Given the description of an element on the screen output the (x, y) to click on. 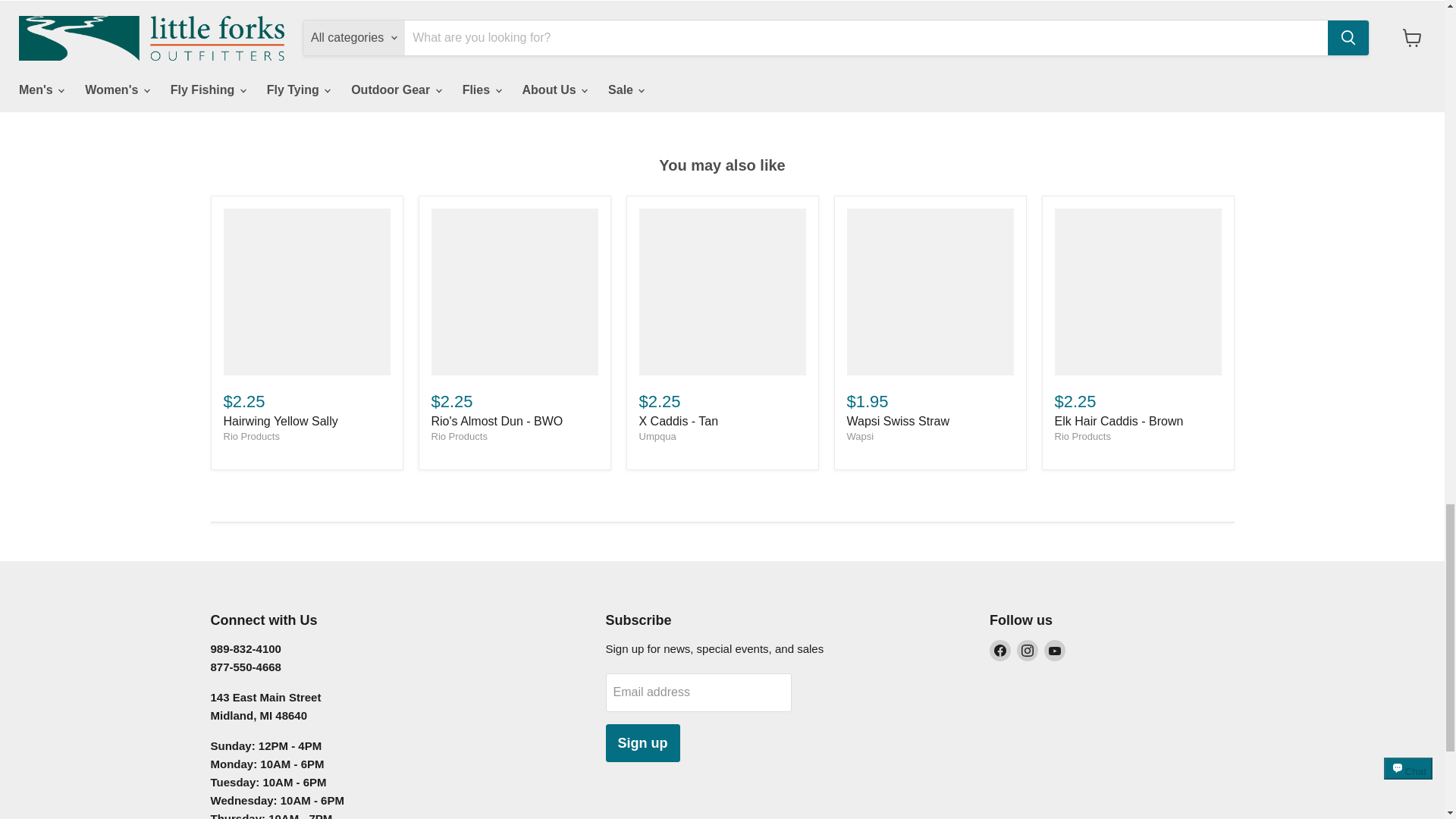
YouTube (1054, 649)
Instagram (1027, 649)
Rio Products (458, 436)
Rio Products (1081, 436)
Facebook (1000, 649)
Umpqua (657, 436)
Rio Products (250, 436)
Wapsi (859, 436)
